Given the description of an element on the screen output the (x, y) to click on. 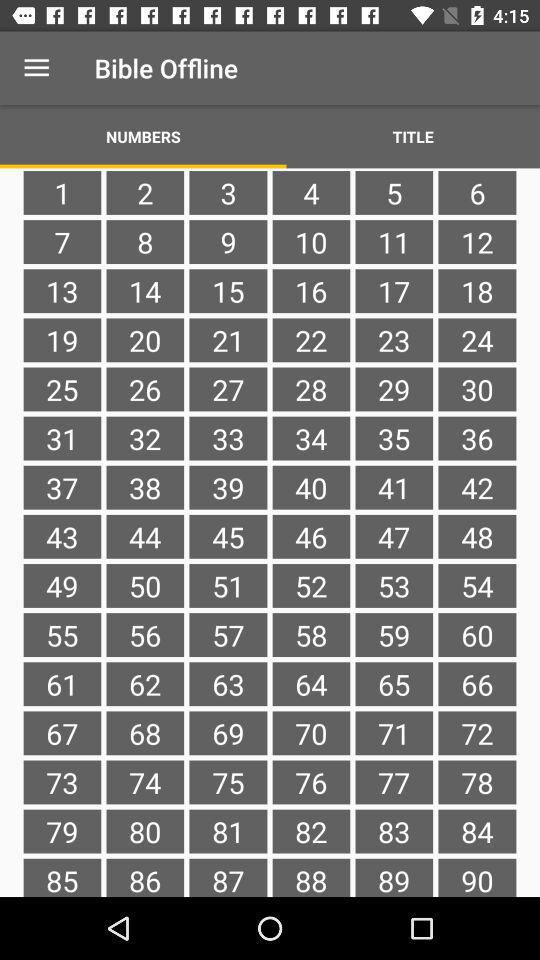
launch item next to title item (143, 136)
